Given the description of an element on the screen output the (x, y) to click on. 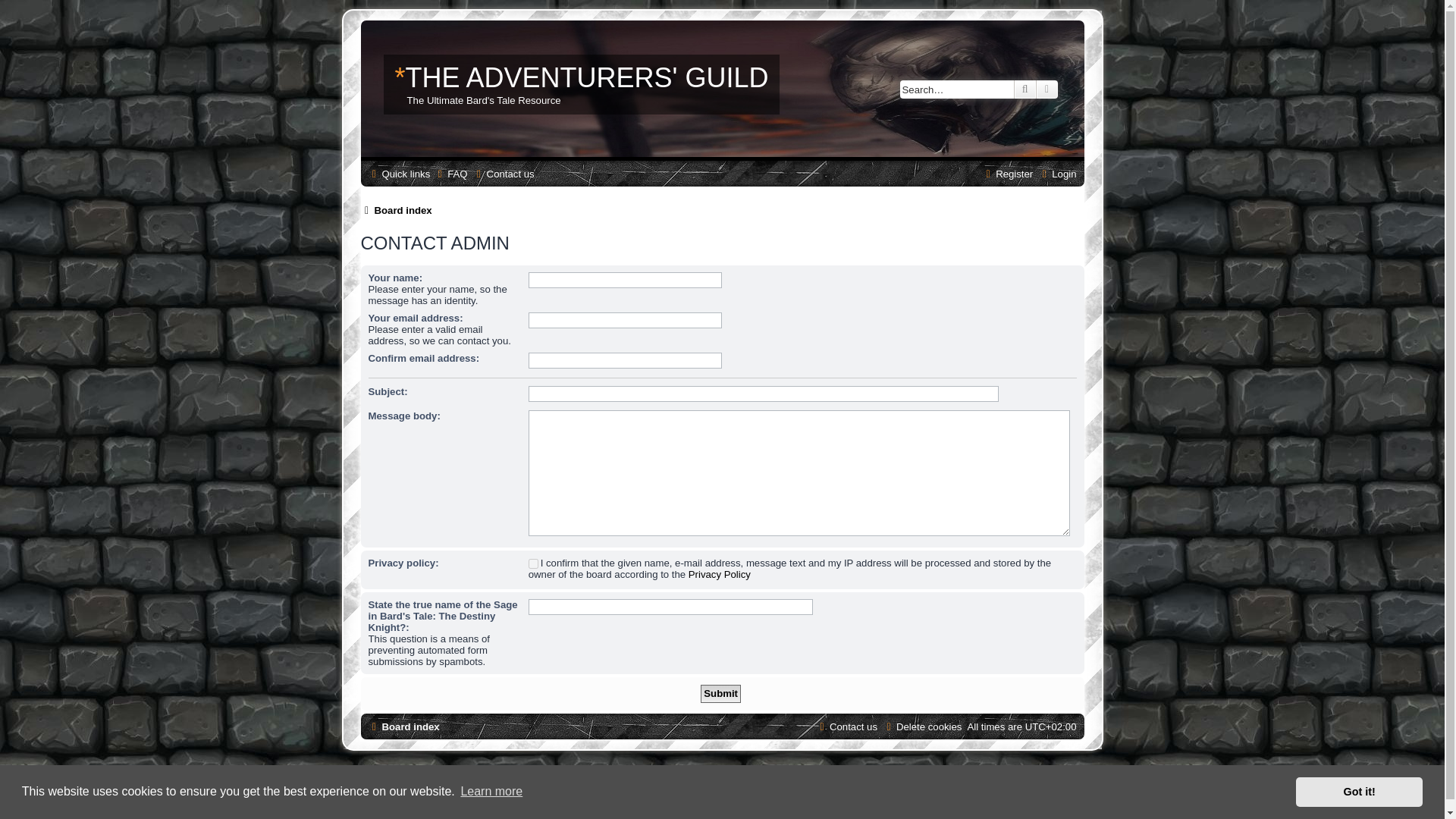
on (533, 563)
Delete cookies (921, 726)
Search (1024, 89)
Login (1056, 173)
Advanced search (1047, 89)
Search for keywords (956, 89)
Contact us (503, 173)
Board index (403, 726)
Board index (396, 210)
Privacy Policy (719, 573)
Board index (396, 210)
Submit (720, 693)
Frequently Asked Questions (450, 173)
Contact us (846, 726)
FAQ (450, 173)
